Given the description of an element on the screen output the (x, y) to click on. 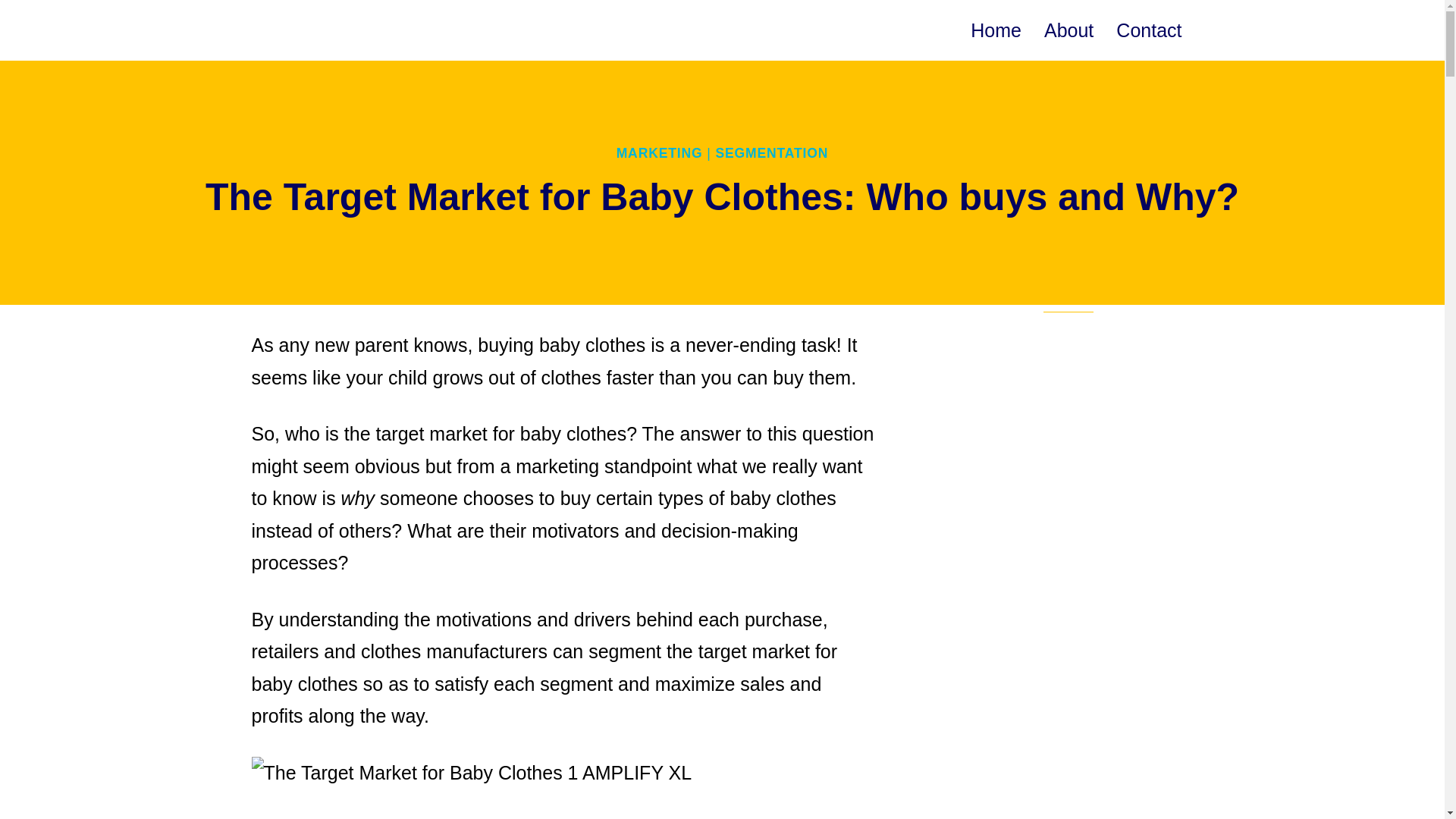
Contact (1148, 30)
Home (995, 30)
SEGMENTATION (771, 152)
MARKETING (659, 152)
About (1068, 30)
